Given the description of an element on the screen output the (x, y) to click on. 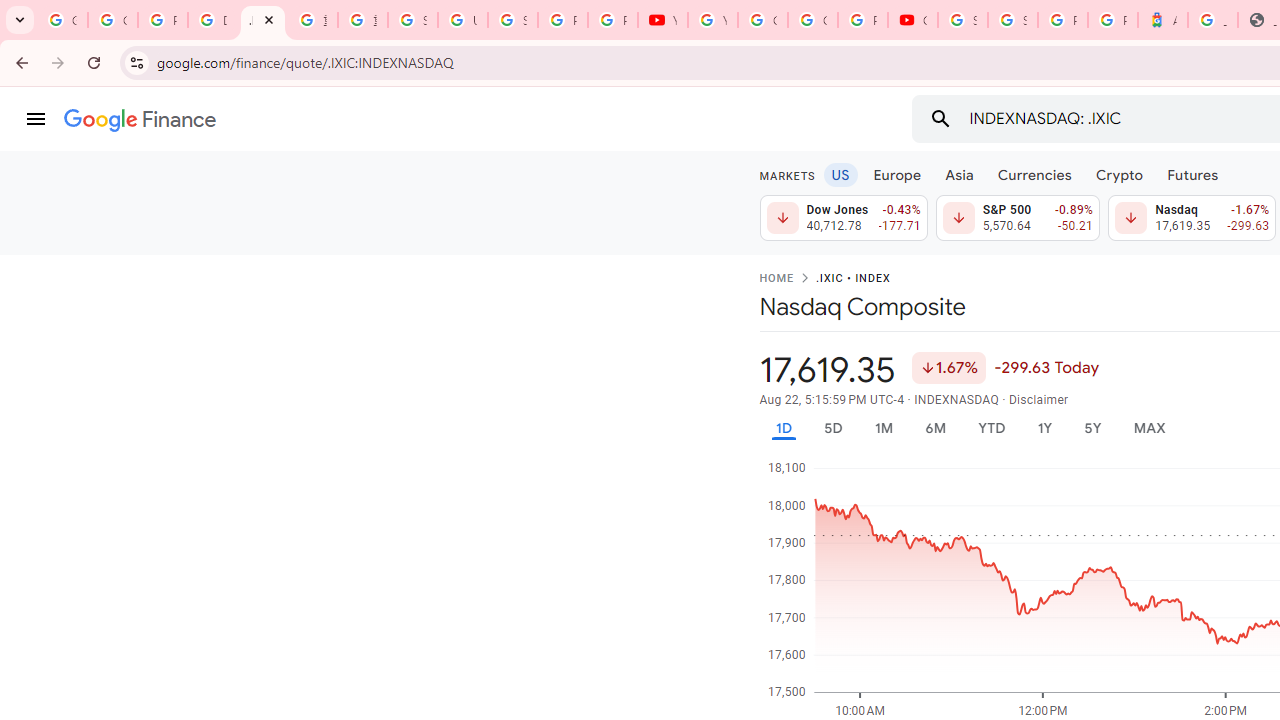
Privacy Checkup (612, 20)
1D (783, 427)
Asia (958, 174)
MAX (1149, 427)
Disclaimer (1038, 399)
Crypto (1119, 174)
Sign in - Google Accounts (1013, 20)
Currencies (1034, 174)
5Y (1092, 427)
View site information (136, 62)
